Given the description of an element on the screen output the (x, y) to click on. 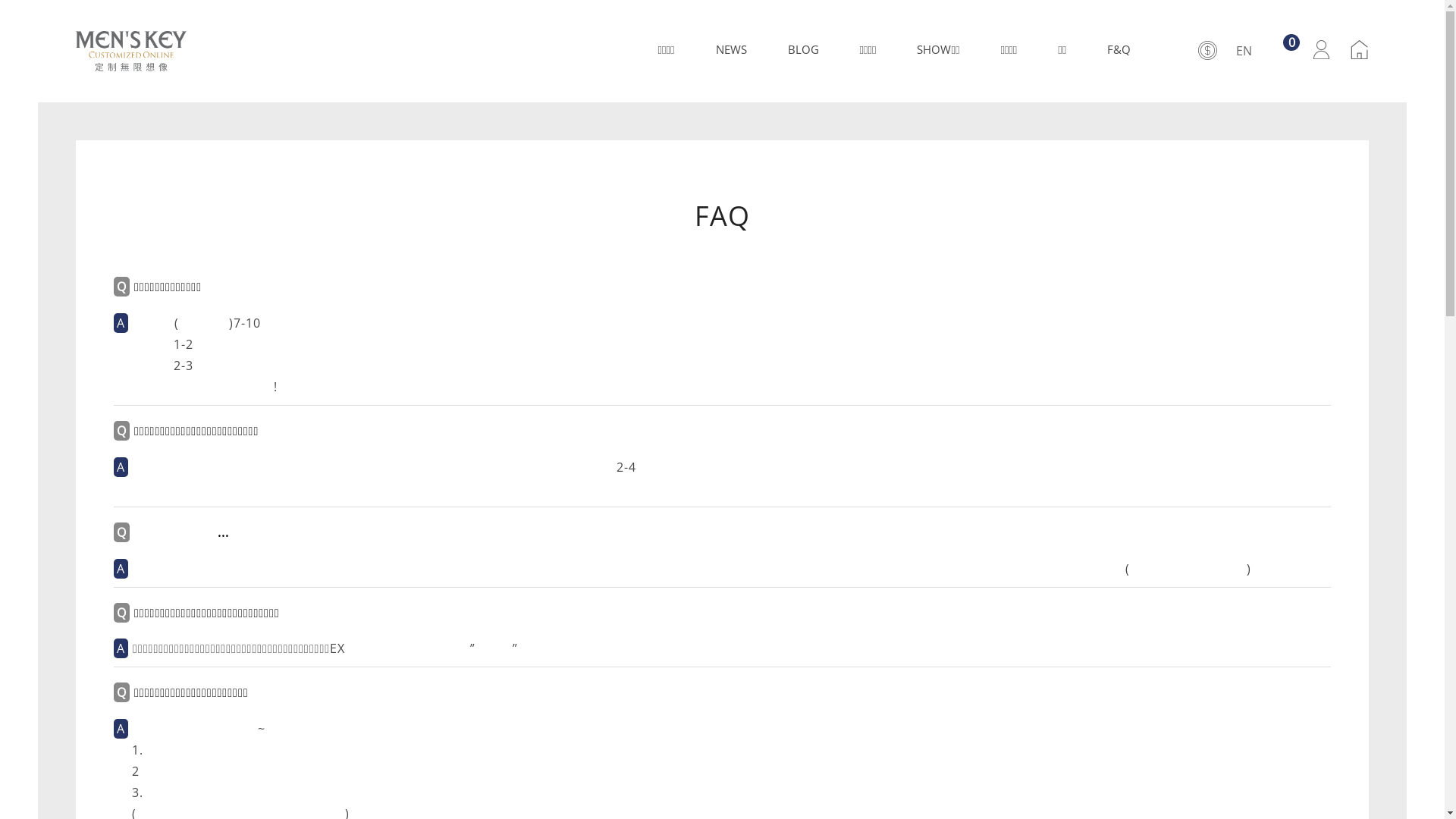
F&Q Element type: text (1118, 49)
NEWS Element type: text (730, 49)
0 Element type: text (1283, 49)
BLOG Element type: text (802, 49)
MEN'S KEY Element type: hover (130, 51)
